Given the description of an element on the screen output the (x, y) to click on. 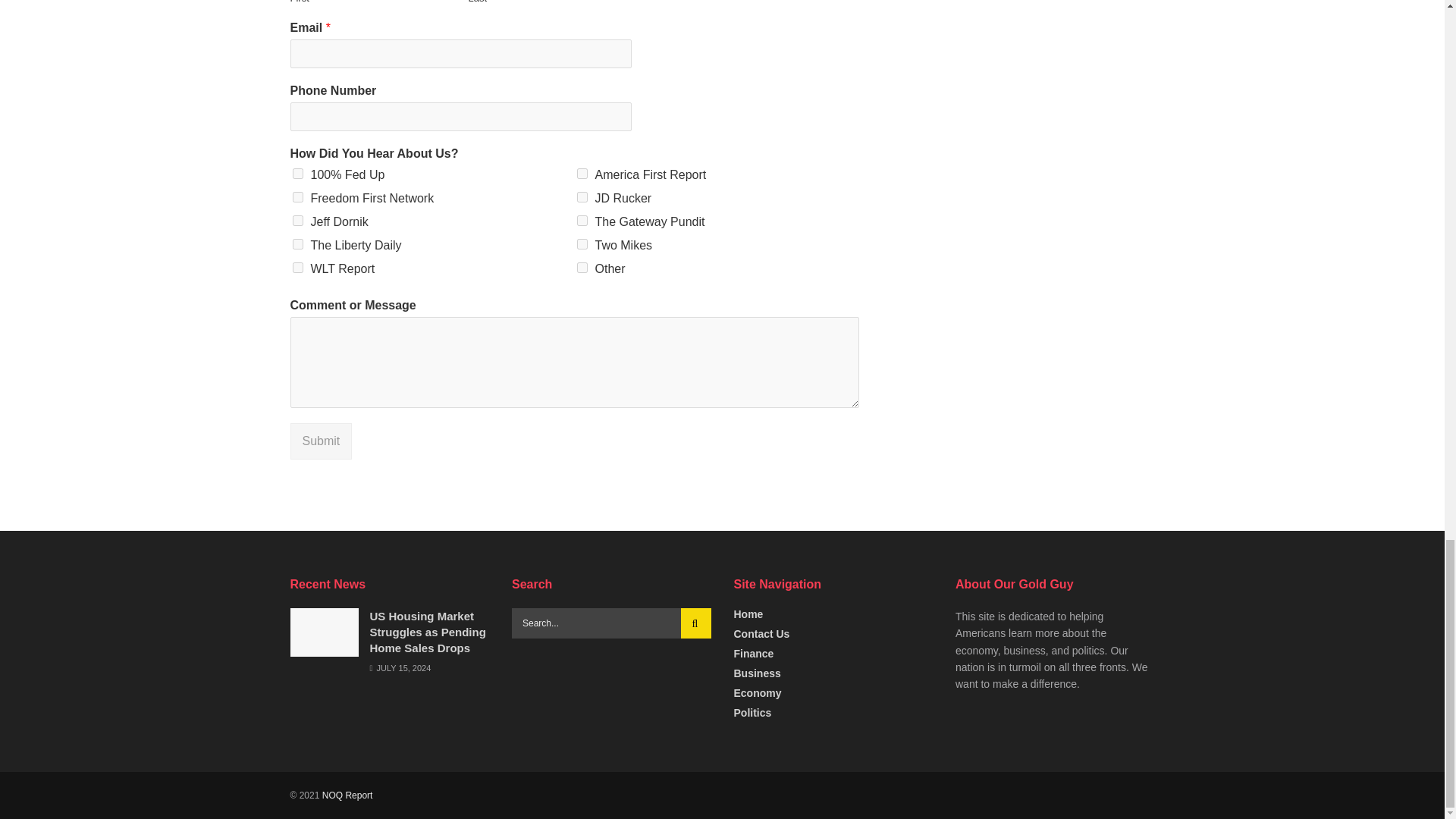
Submit (320, 441)
The Liberty Daily (297, 244)
Freedom First Network (297, 196)
NOQ Report (346, 795)
Two Mikes (581, 244)
WLT Report (297, 267)
JD Rucker (581, 196)
The Gateway Pundit (581, 220)
America First Report (581, 173)
Jeff Dornik (297, 220)
Other (581, 267)
